Given the description of an element on the screen output the (x, y) to click on. 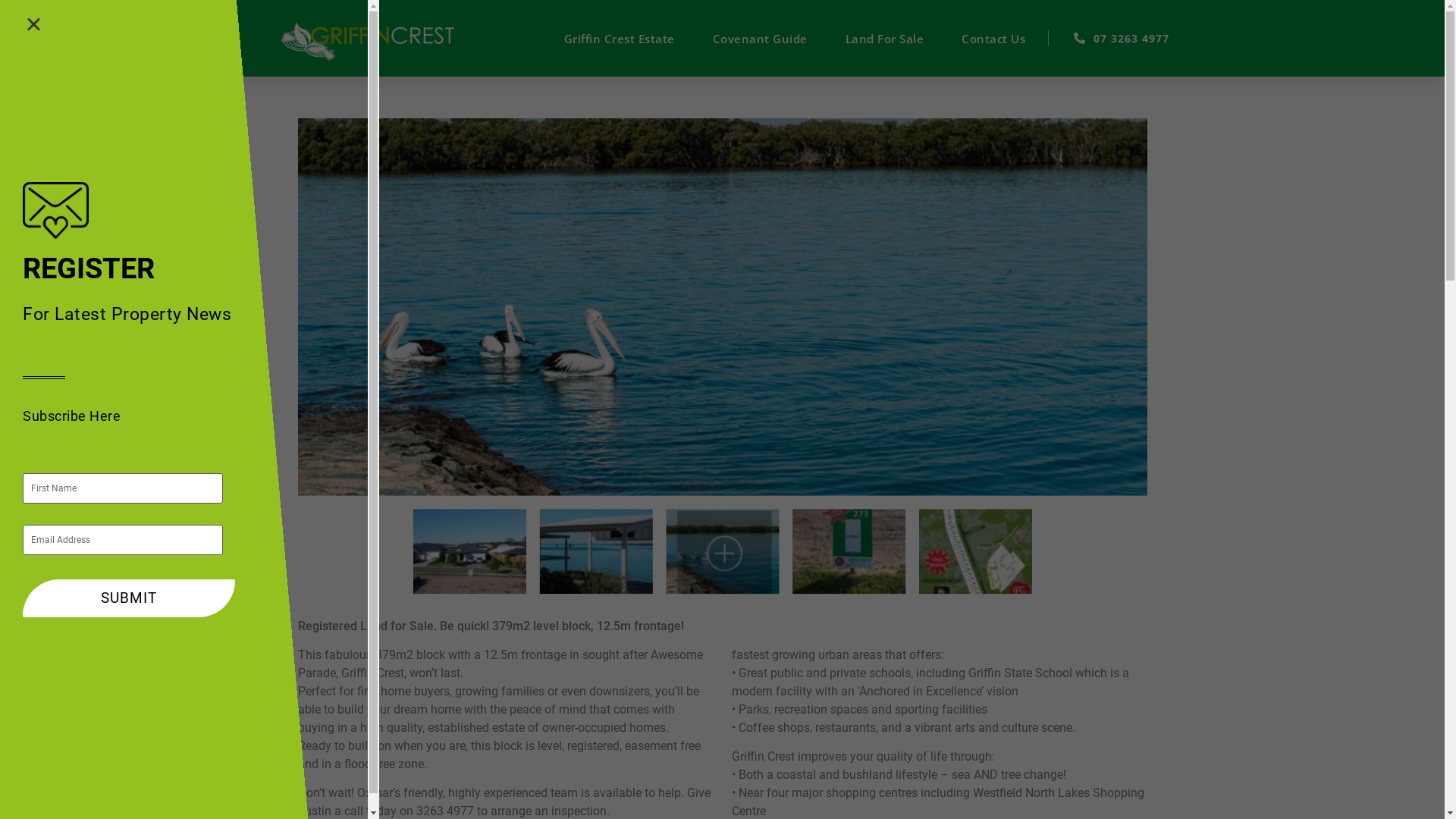
Griffin Crest Estate Element type: text (619, 38)
Contact Us Element type: text (993, 38)
Covenant Guide Element type: text (759, 38)
Submit Element type: text (128, 598)
Land For Sale Element type: text (884, 38)
07 3263 4977 Element type: text (1108, 38)
